Given the description of an element on the screen output the (x, y) to click on. 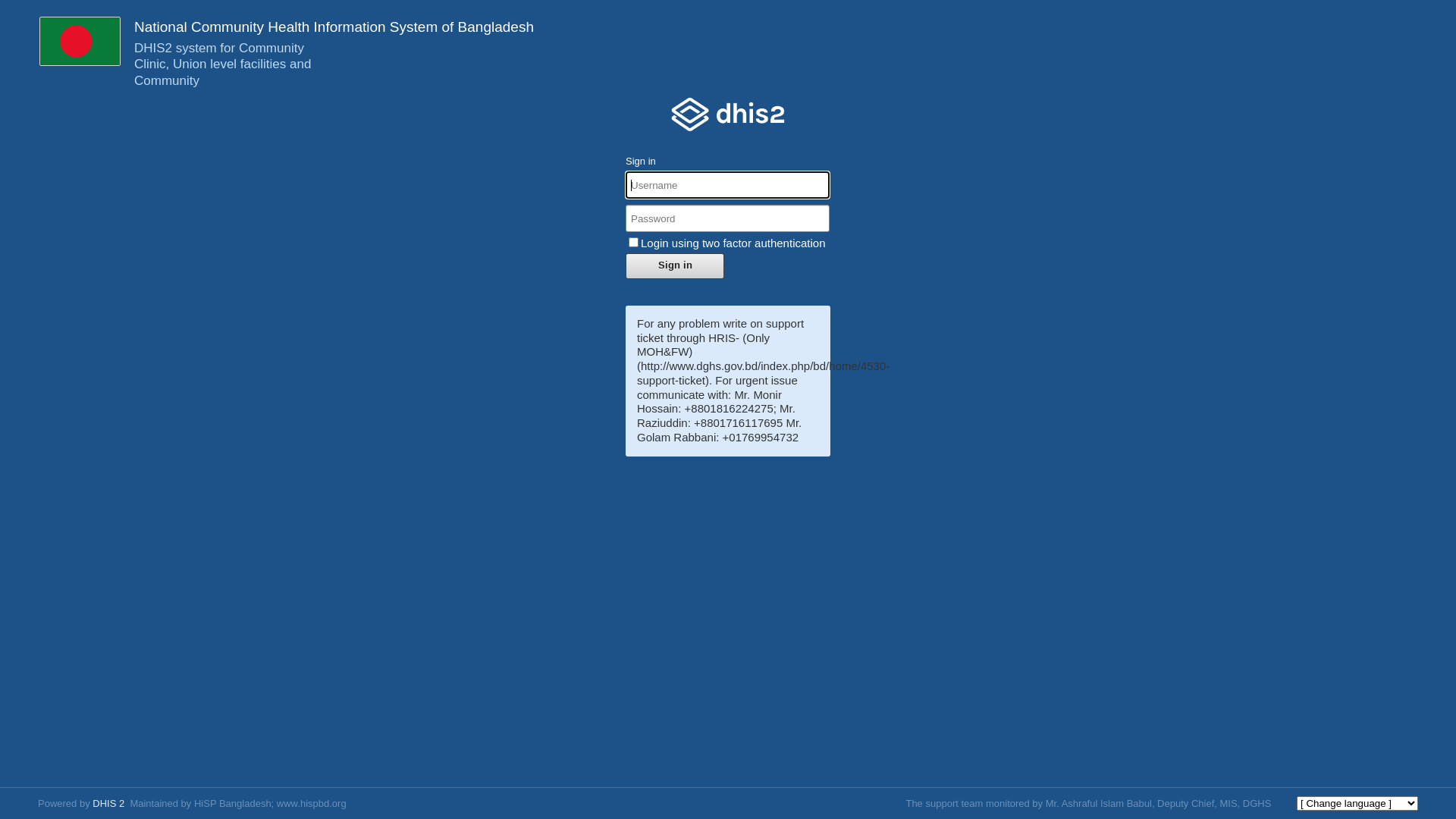
DHIS 2 Element type: text (108, 803)
Sign in Element type: text (674, 266)
